Given the description of an element on the screen output the (x, y) to click on. 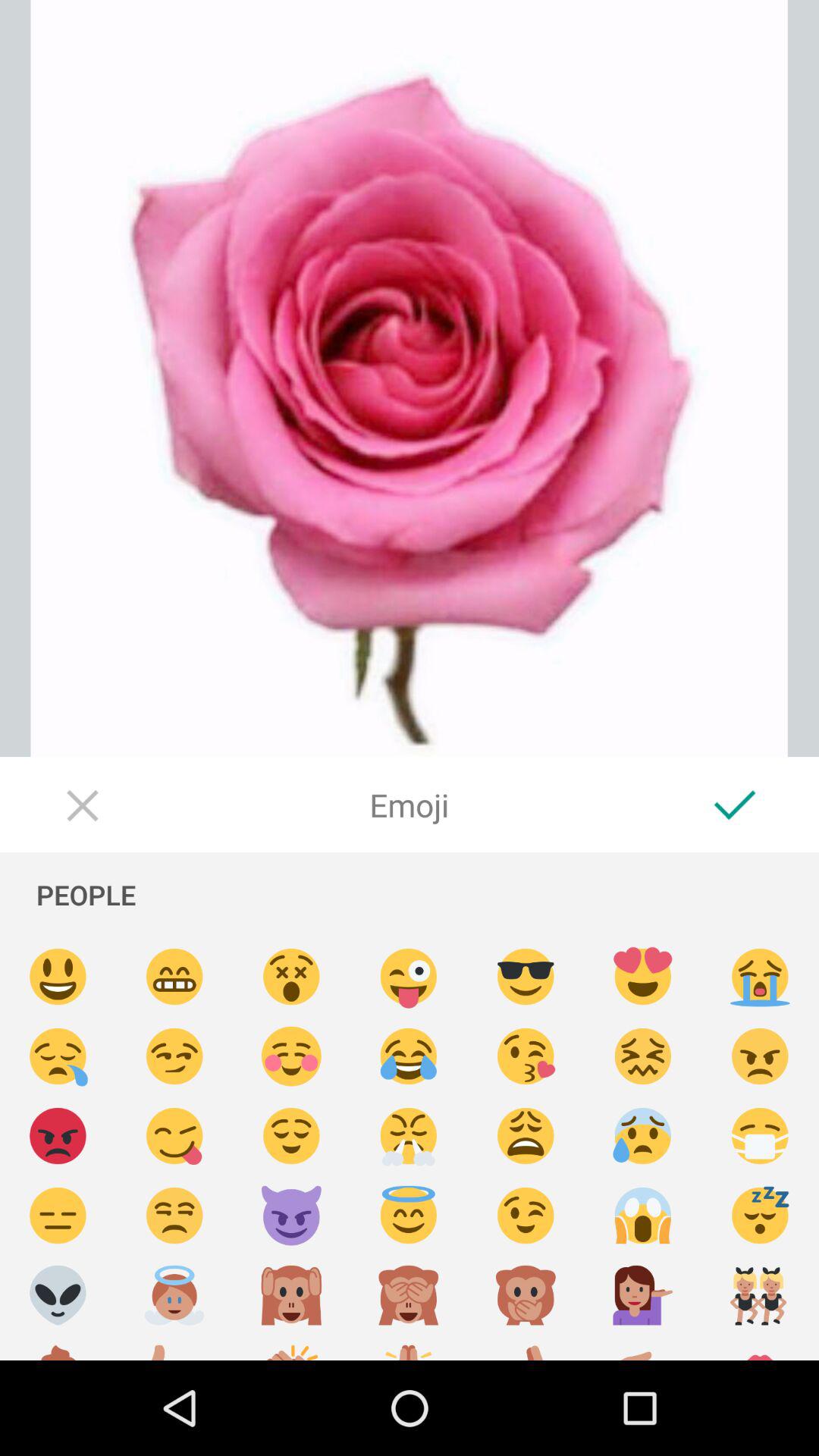
select cheeky emoji (174, 1136)
